Given the description of an element on the screen output the (x, y) to click on. 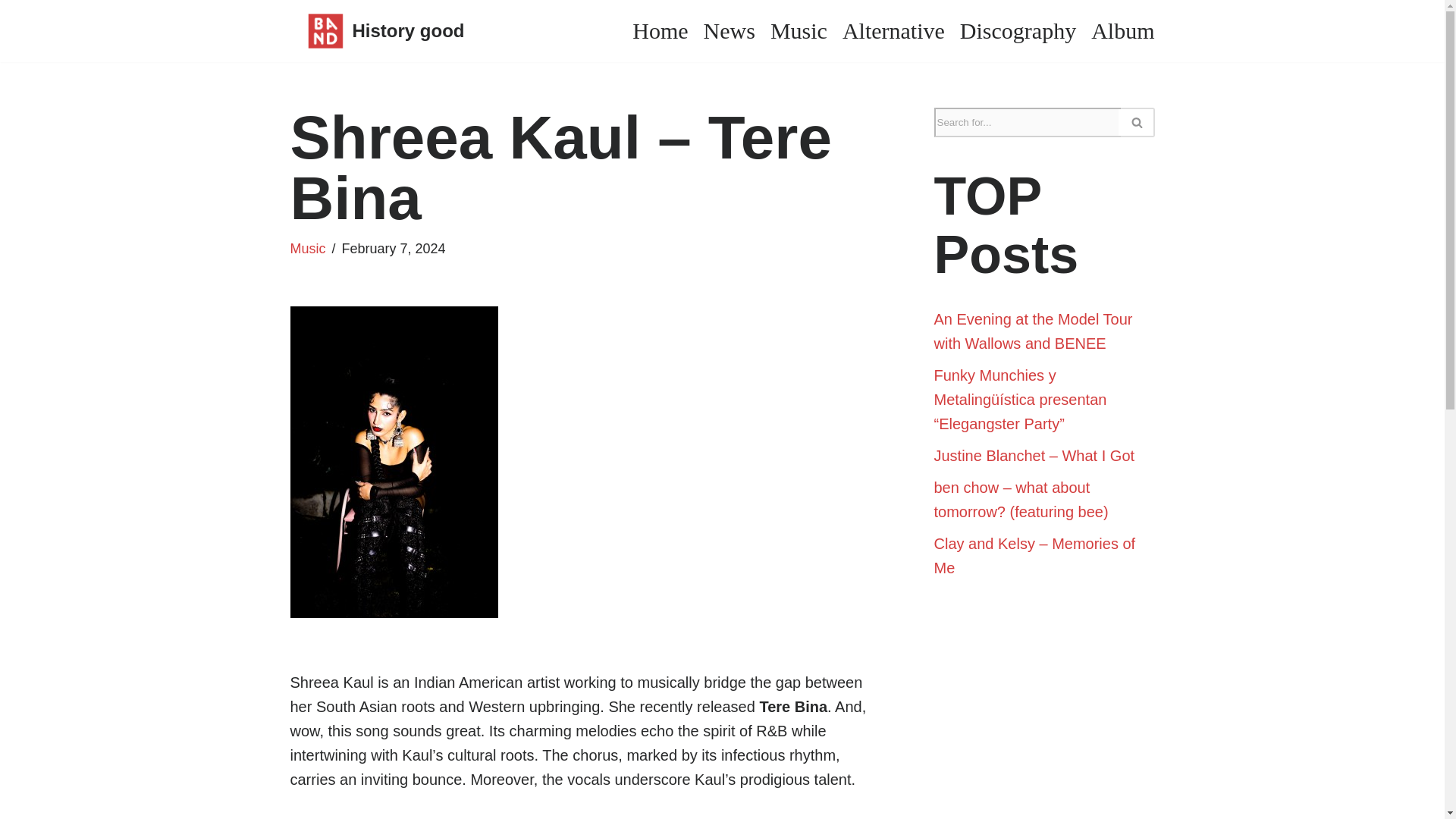
Album (1122, 31)
Skip to content (11, 31)
An Evening at the Model Tour with Wallows and BENEE (1033, 331)
Music (306, 248)
History good (376, 30)
Home (659, 31)
News (729, 31)
Music (798, 31)
History good (376, 30)
Alternative (893, 31)
